Given the description of an element on the screen output the (x, y) to click on. 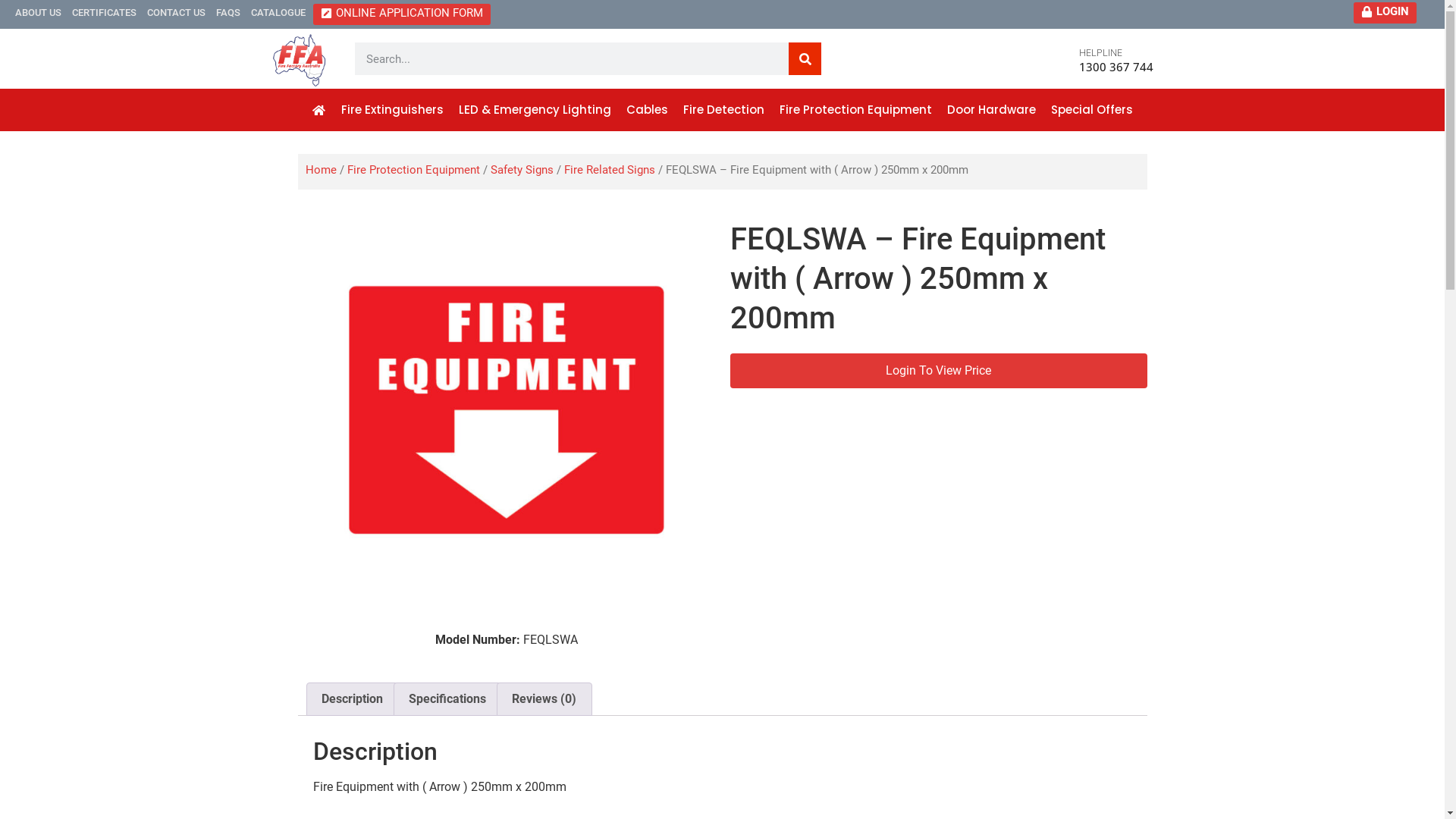
Fire Extinguishers Element type: text (392, 109)
ABOUT US Element type: text (38, 11)
FAQS Element type: text (228, 11)
Cables Element type: text (647, 109)
CATALOGUE Element type: text (278, 11)
CONTACT US Element type: text (176, 11)
CERTIFICATES Element type: text (104, 11)
LOGIN Element type: text (1384, 11)
Description Element type: text (351, 699)
fire-equipment-with-arrow Element type: hover (506, 409)
Login To View Price Element type: text (937, 370)
ONLINE APPLICATION FORM Element type: text (401, 14)
Fire Related Signs Element type: text (609, 169)
Reviews (0) Element type: text (543, 699)
Safety Signs Element type: text (520, 169)
1300 367 744 Element type: text (1116, 66)
Special Offers Element type: text (1091, 109)
LED & Emergency Lighting Element type: text (534, 109)
Home Element type: text (319, 169)
Fire Detection Element type: text (723, 109)
Fire Protection Equipment Element type: text (855, 109)
Door Hardware Element type: text (991, 109)
Fire Protection Equipment Element type: text (413, 169)
Specifications Element type: text (447, 699)
